Given the description of an element on the screen output the (x, y) to click on. 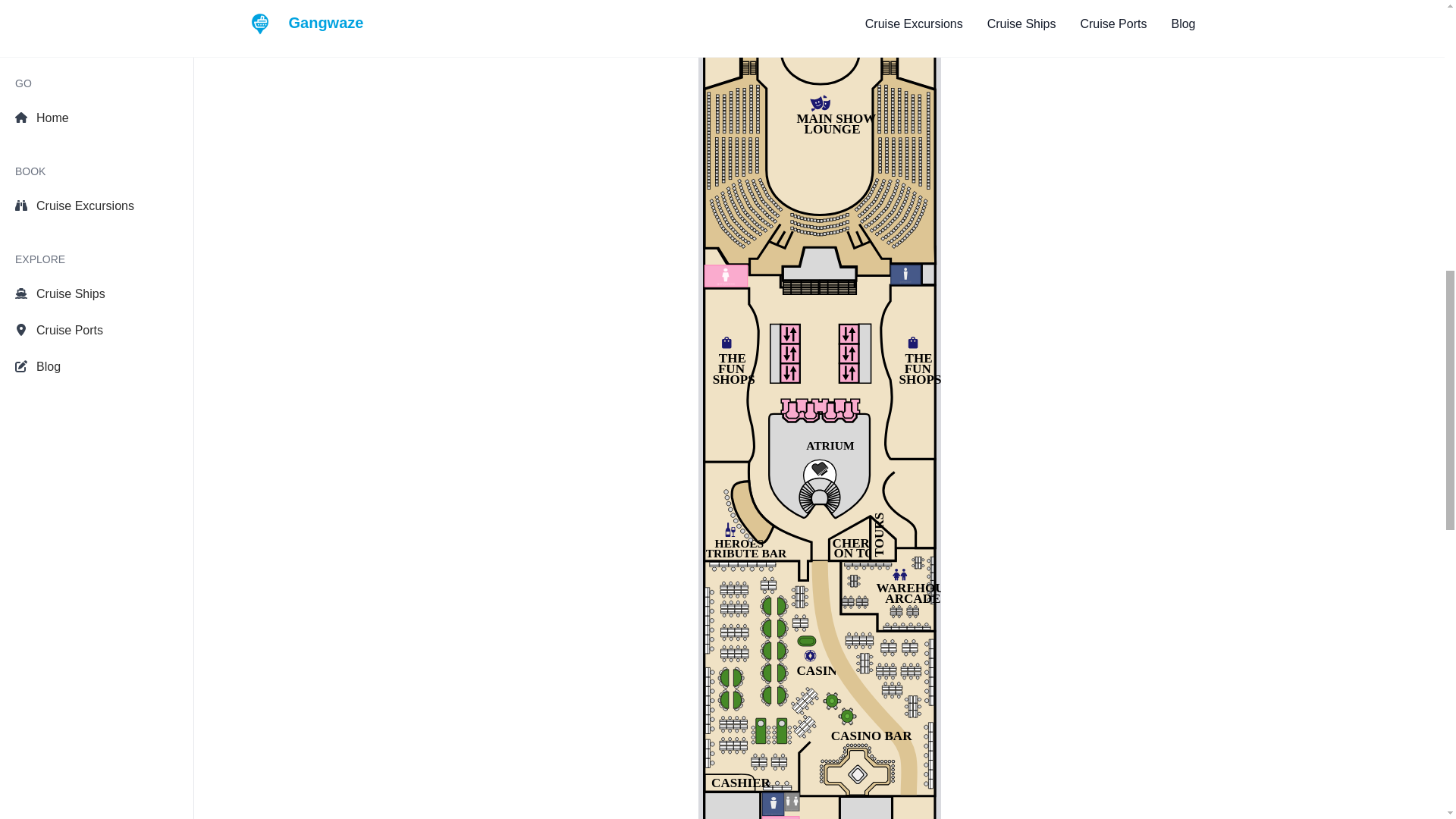
See All Details (428, 27)
